Given the description of an element on the screen output the (x, y) to click on. 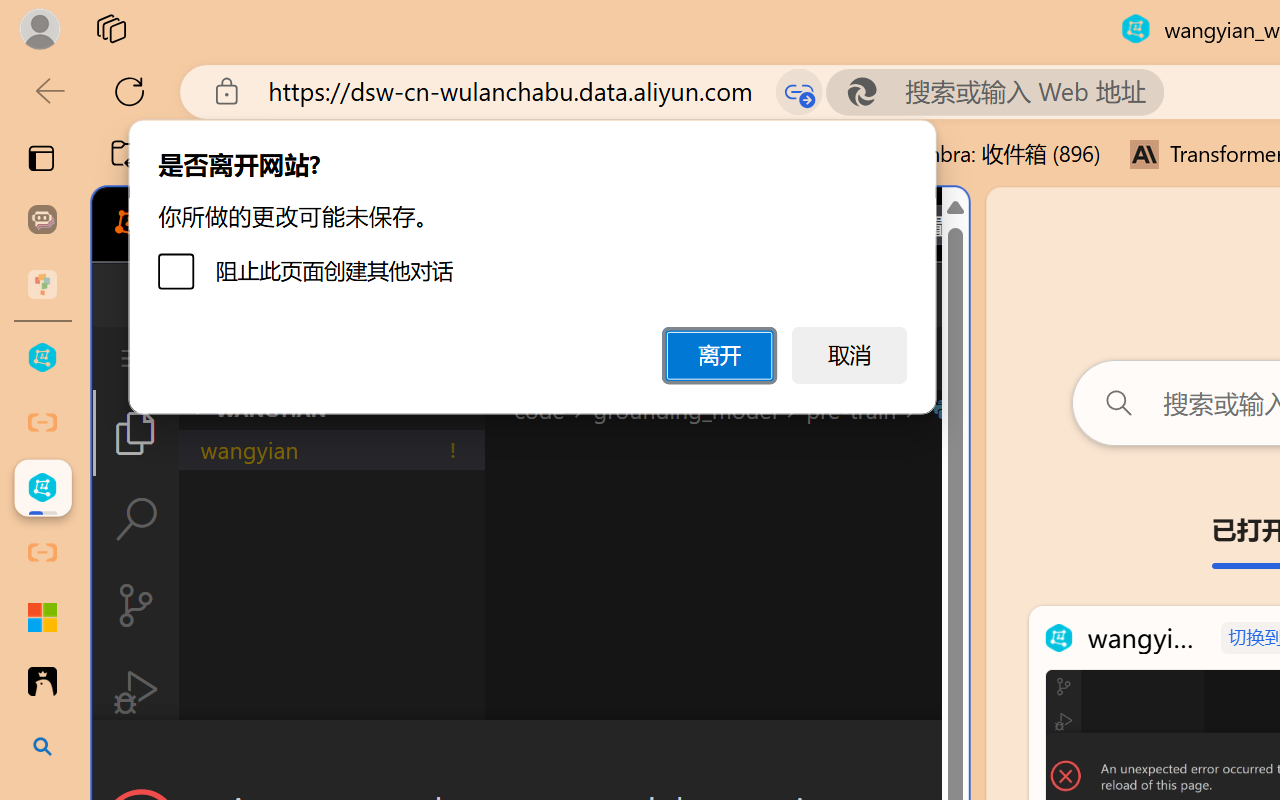
Adjust indents and spacing - Microsoft Support (42, 617)
Class: actions-container (529, 756)
Run and Debug (Ctrl+Shift+D) (135, 692)
Close Dialog (959, 756)
